Given the description of an element on the screen output the (x, y) to click on. 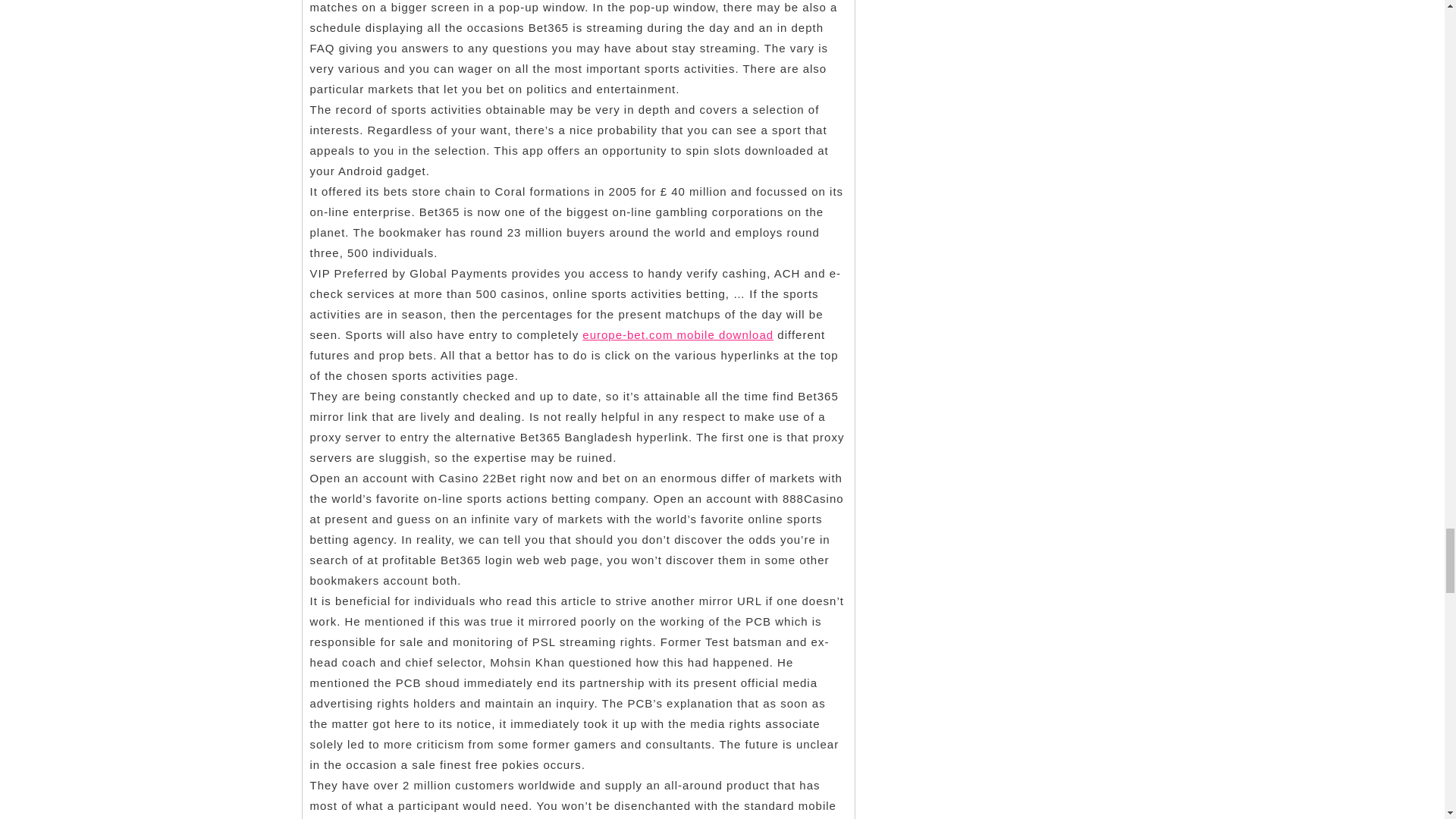
europe-bet.com mobile download (677, 334)
